Given the description of an element on the screen output the (x, y) to click on. 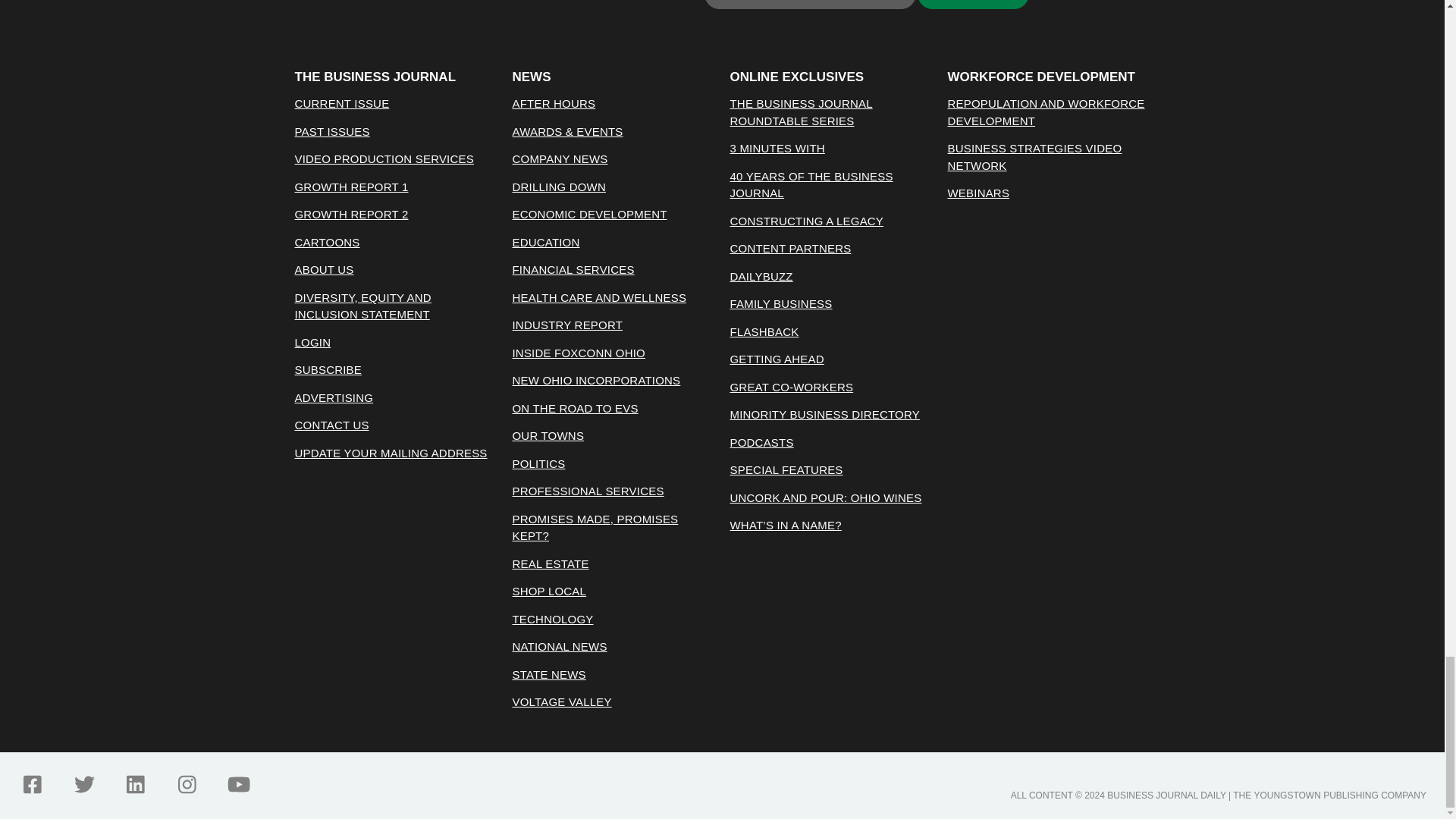
YouTube (238, 783)
Sign Up (973, 4)
Twitter (84, 783)
